Given the description of an element on the screen output the (x, y) to click on. 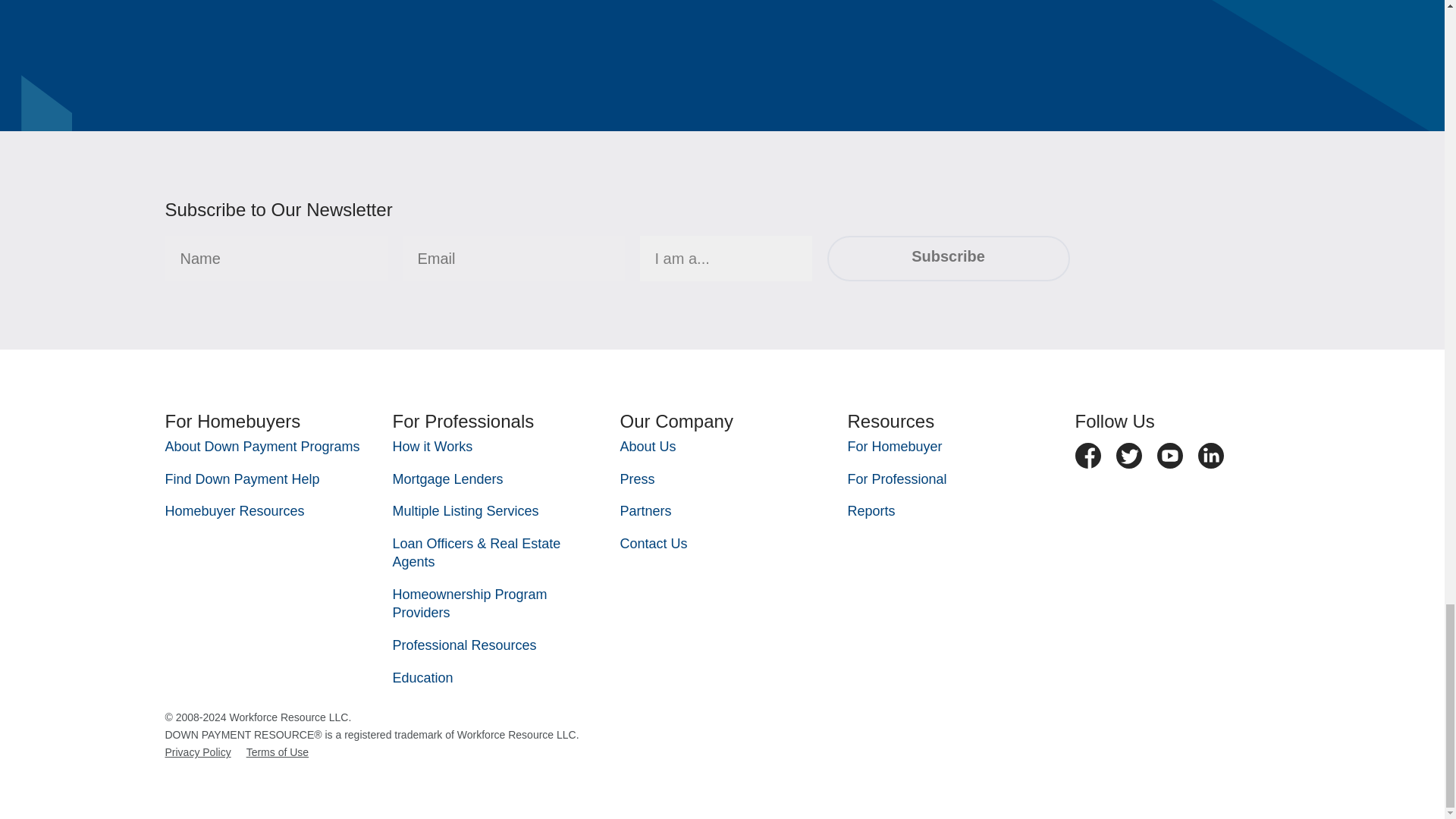
Find Down Payment Help (242, 478)
Homebuyer Resources (234, 510)
About Down Payment Programs (262, 446)
Subscribe (947, 258)
Subscribe (947, 258)
